Given the description of an element on the screen output the (x, y) to click on. 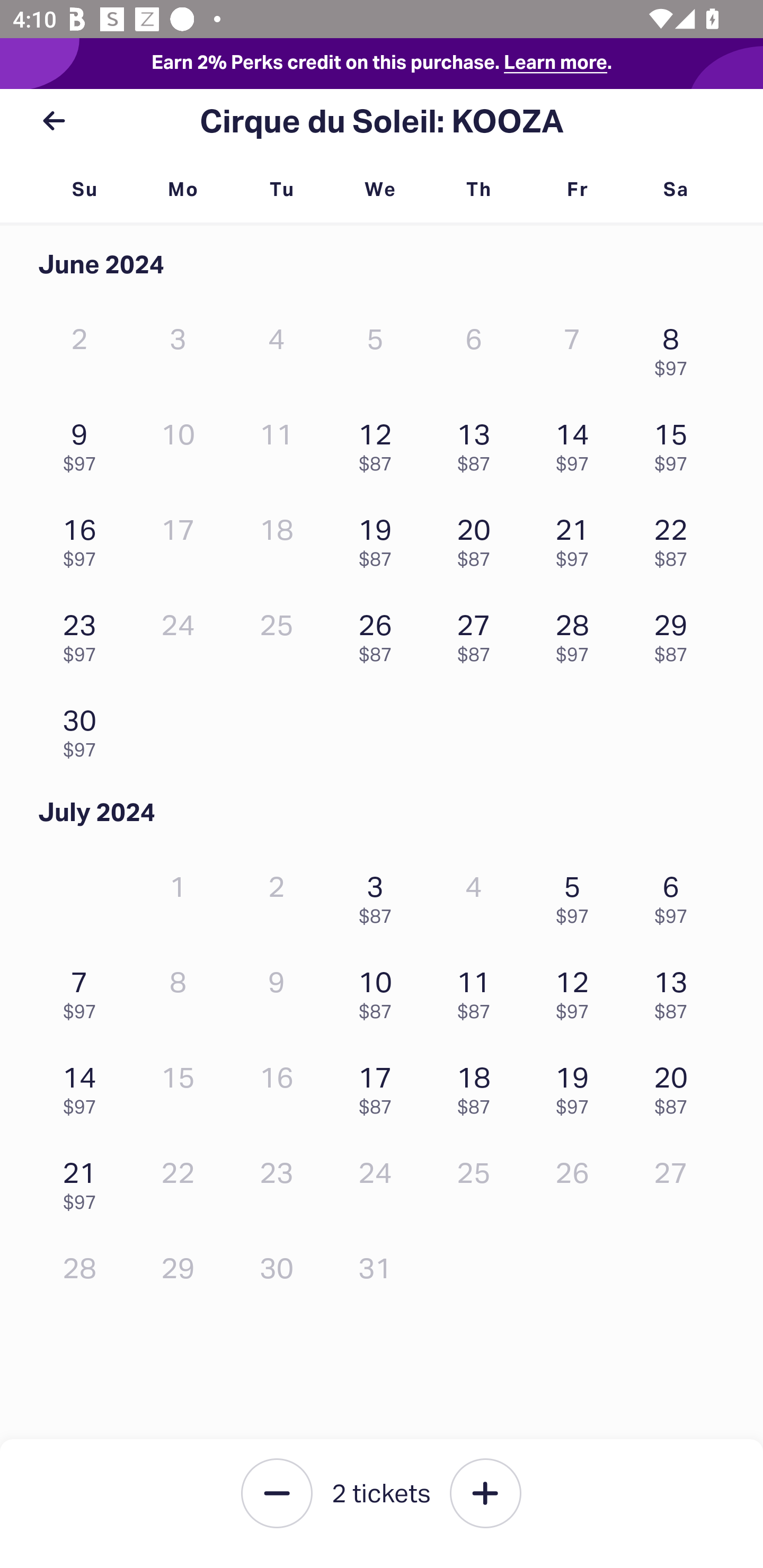
Earn 2% Perks credit on this purchase. Learn more. (381, 63)
back button (53, 120)
8 $97 (675, 347)
9 $97 (84, 442)
12 $87 (379, 442)
13 $87 (478, 442)
14 $97 (577, 442)
15 $97 (675, 442)
16 $97 (84, 538)
19 $87 (379, 538)
20 $87 (478, 538)
21 $97 (577, 538)
22 $87 (675, 538)
23 $97 (84, 633)
26 $87 (379, 633)
27 $87 (478, 633)
28 $97 (577, 633)
29 $87 (675, 633)
30 $97 (84, 728)
3 $87 (379, 895)
5 $97 (577, 895)
6 $97 (675, 895)
7 $97 (84, 989)
10 $87 (379, 989)
11 $87 (478, 989)
12 $97 (577, 989)
13 $87 (675, 989)
14 $97 (84, 1085)
17 $87 (379, 1085)
18 $87 (478, 1085)
19 $97 (577, 1085)
20 $87 (675, 1085)
21 $97 (84, 1181)
